Given the description of an element on the screen output the (x, y) to click on. 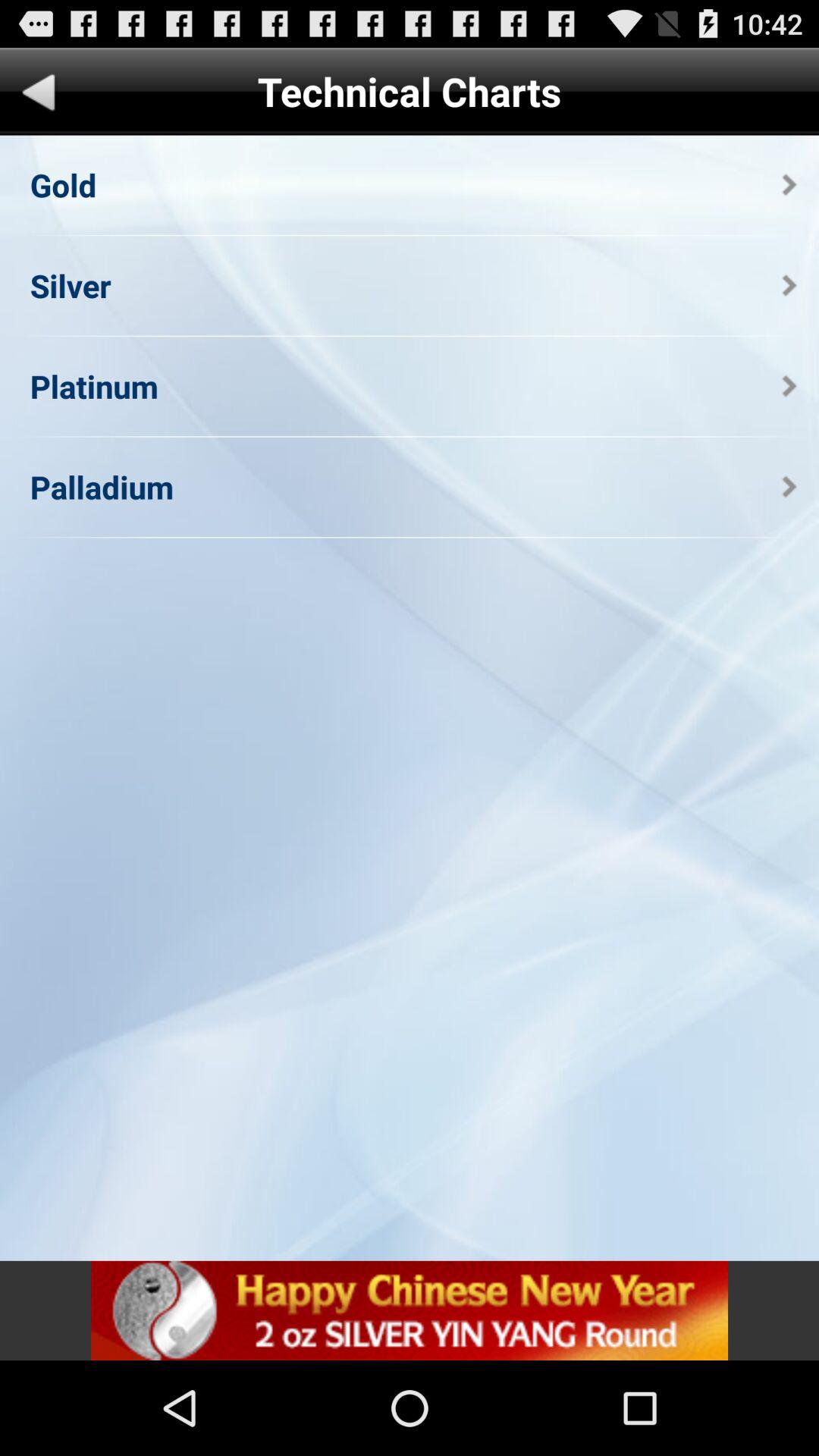
click app to the right of gold icon (789, 184)
